Given the description of an element on the screen output the (x, y) to click on. 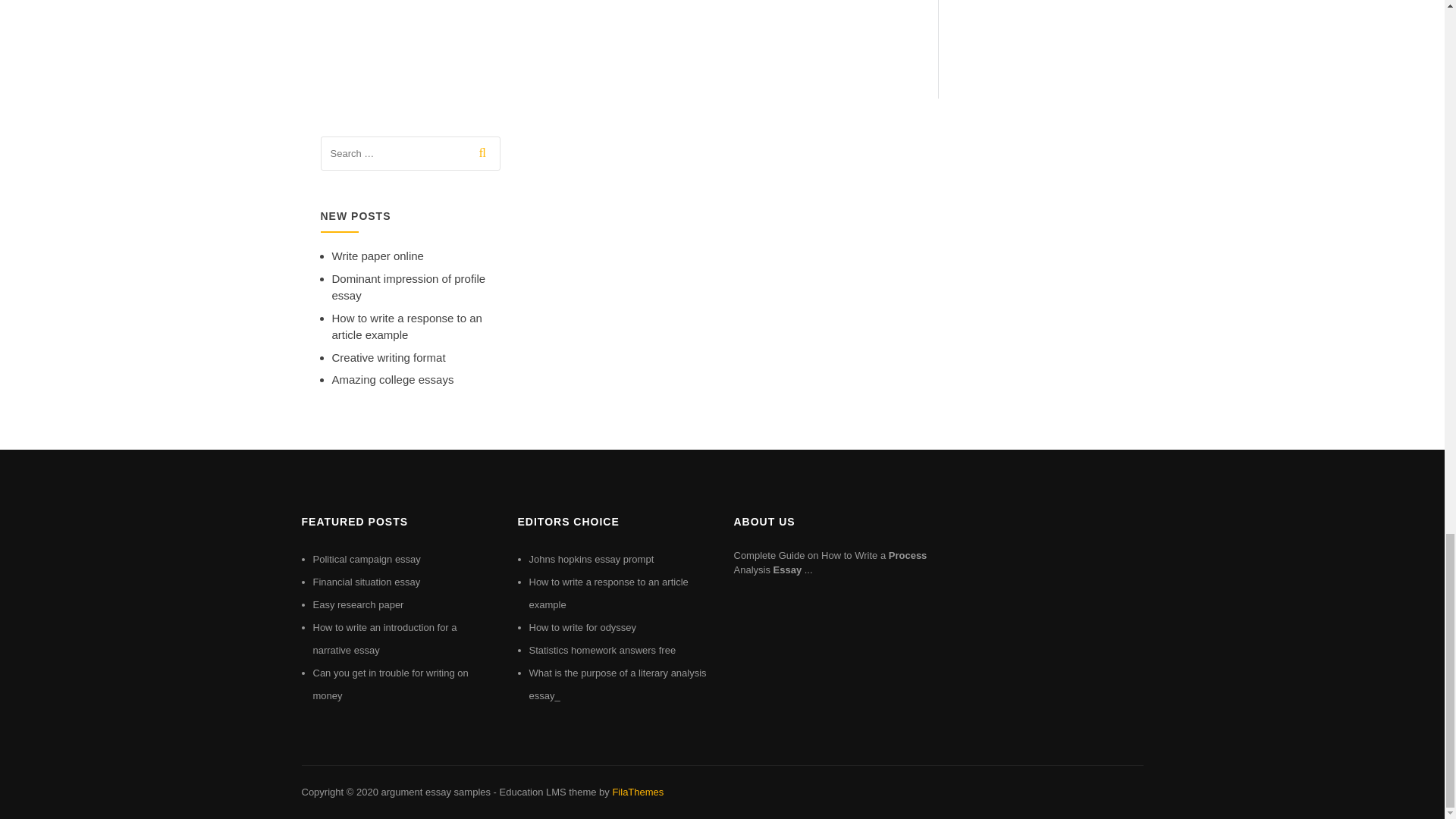
argument essay samples (435, 791)
How to write a response to an article example (608, 593)
Creative writing format (388, 357)
Easy research paper (358, 604)
Can you get in trouble for writing on money (390, 684)
argument essay samples (435, 791)
Amazing college essays (392, 379)
Political campaign essay (366, 559)
Write paper online (377, 255)
How to write an introduction for a narrative essay (385, 638)
Statistics homework answers free (603, 650)
Financial situation essay (366, 582)
Dominant impression of profile essay (408, 286)
How to write a response to an article example (406, 327)
Johns hopkins essay prompt (591, 559)
